Given the description of an element on the screen output the (x, y) to click on. 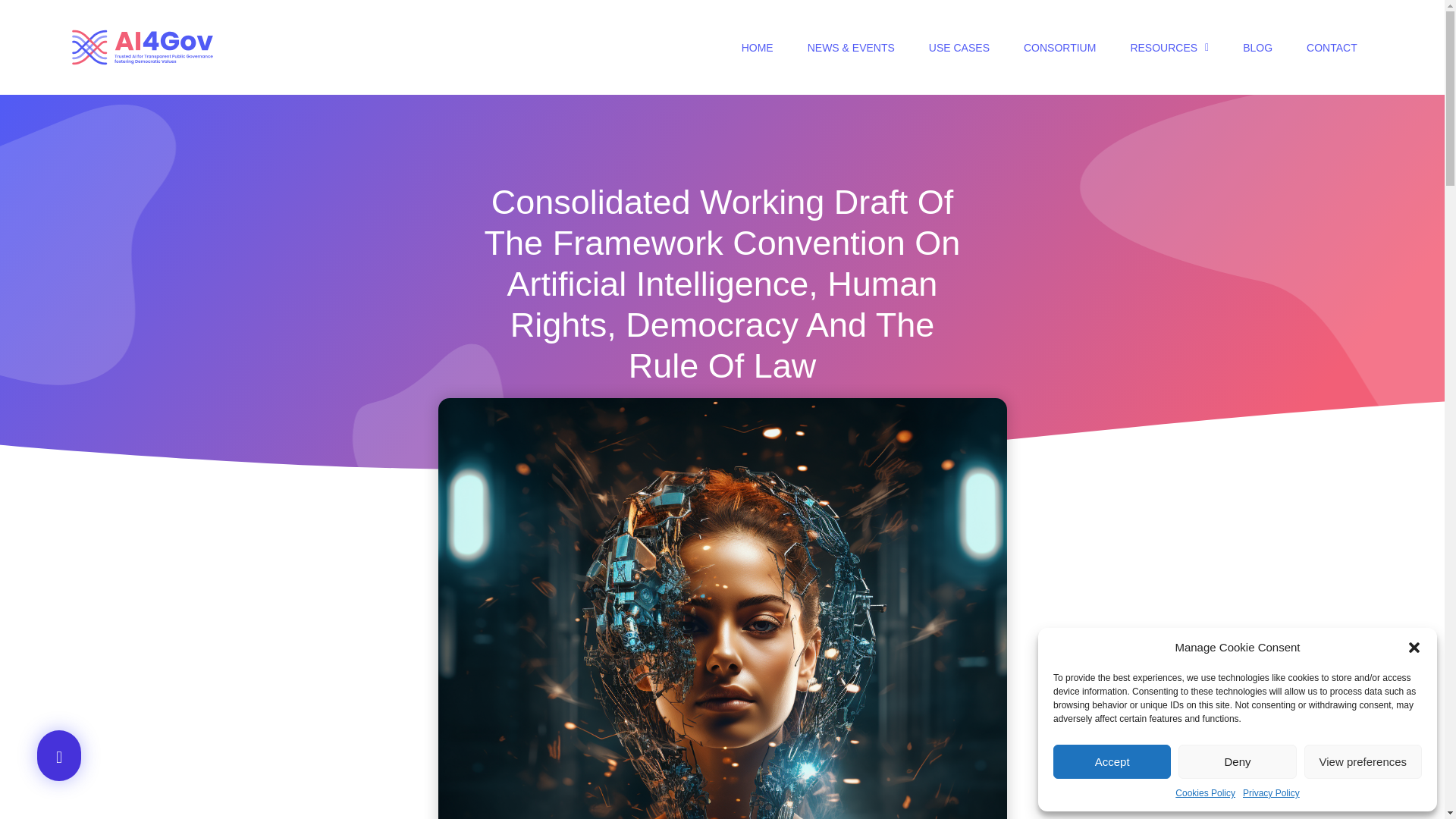
Cookies Policy (1204, 793)
Deny (1236, 761)
Privacy Policy (1271, 793)
HOME (757, 46)
CONSORTIUM (1059, 46)
Accept (1111, 761)
BLOG (1257, 46)
USE CASES (959, 46)
RESOURCES (1169, 46)
CONTACT (1332, 46)
View preferences (1363, 761)
